Given the description of an element on the screen output the (x, y) to click on. 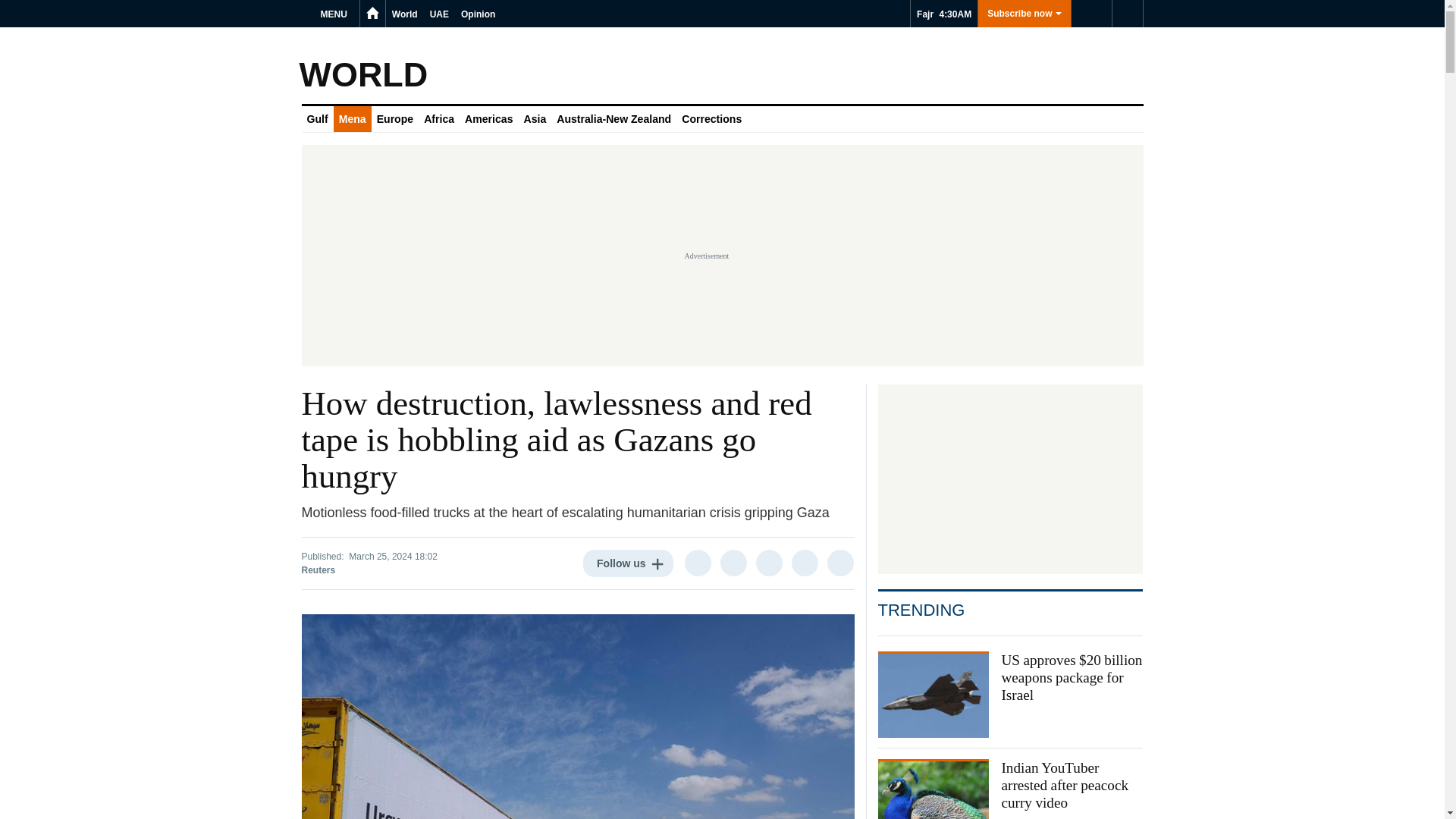
Fajr 4:30AM (943, 13)
Opinion (477, 13)
World (404, 13)
MENU (336, 13)
UAE (438, 13)
Subscribe now (1024, 13)
